Given the description of an element on the screen output the (x, y) to click on. 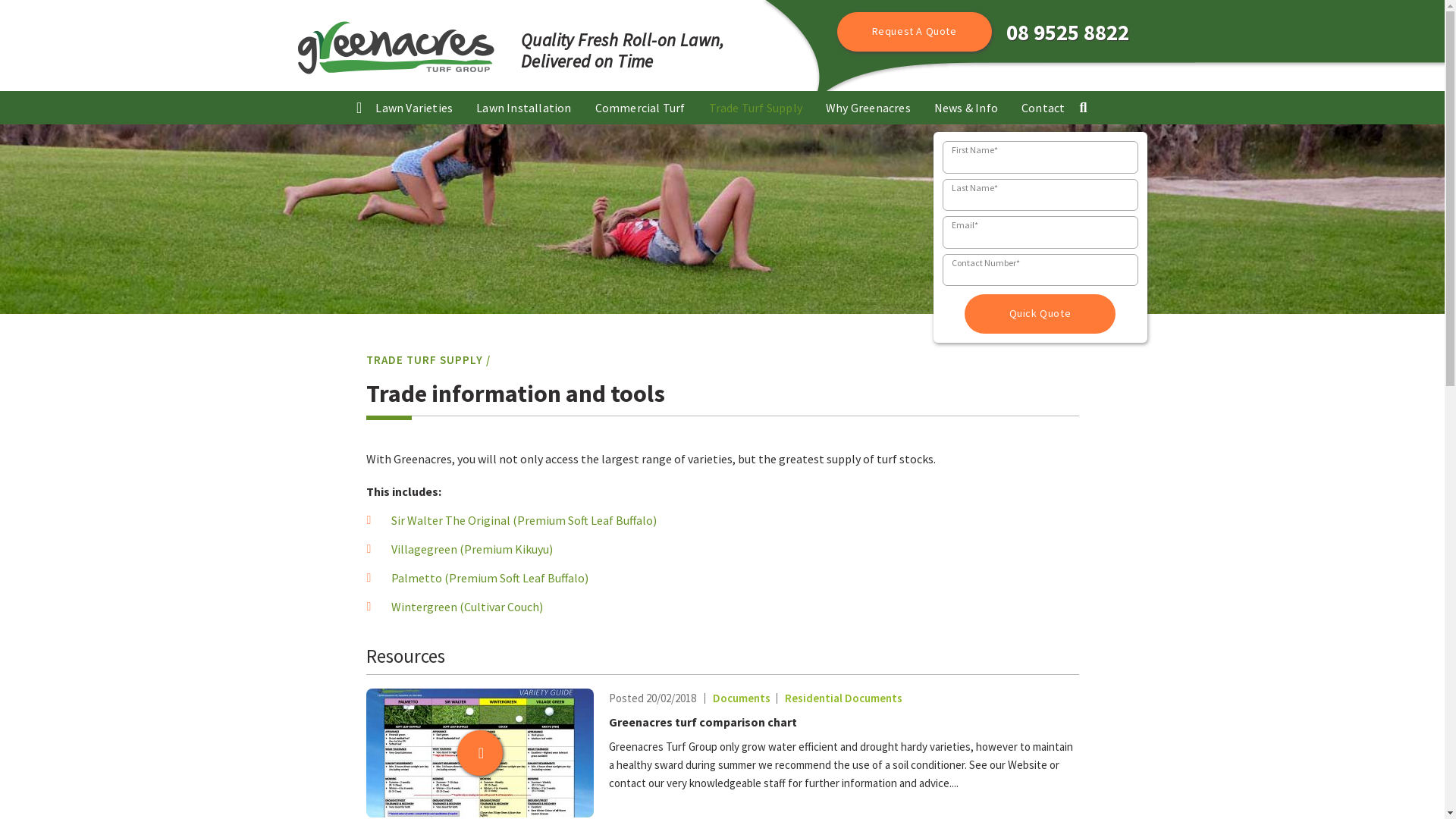
Why Greenacres Element type: text (868, 107)
Search Element type: text (1083, 112)
Villagegreen (Premium Kikuyu) Element type: text (471, 548)
News & Info Element type: text (965, 107)
08 9525 8822 Element type: text (1066, 32)
Wintergreen (Cultivar Couch) Element type: text (466, 606)
Lawn Varieties Element type: text (413, 107)
Sir Walter The Original (Premium Soft Leaf Buffalo) Element type: text (523, 519)
TRADE TURF SUPPLY Element type: text (423, 359)
Residential Documents Element type: text (836, 697)
Home Element type: text (359, 112)
Quick Quote Element type: text (1040, 313)
Palmetto (Premium Soft Leaf Buffalo) Element type: text (489, 577)
Request A Quote Element type: text (914, 31)
Documents Element type: text (733, 697)
Contact Element type: text (1042, 107)
Commercial Turf Element type: text (640, 107)
Lawn Installation Element type: text (523, 107)
Trade Turf Supply Element type: text (755, 107)
Greenacres turf comparison chart Element type: text (702, 721)
